Given the description of an element on the screen output the (x, y) to click on. 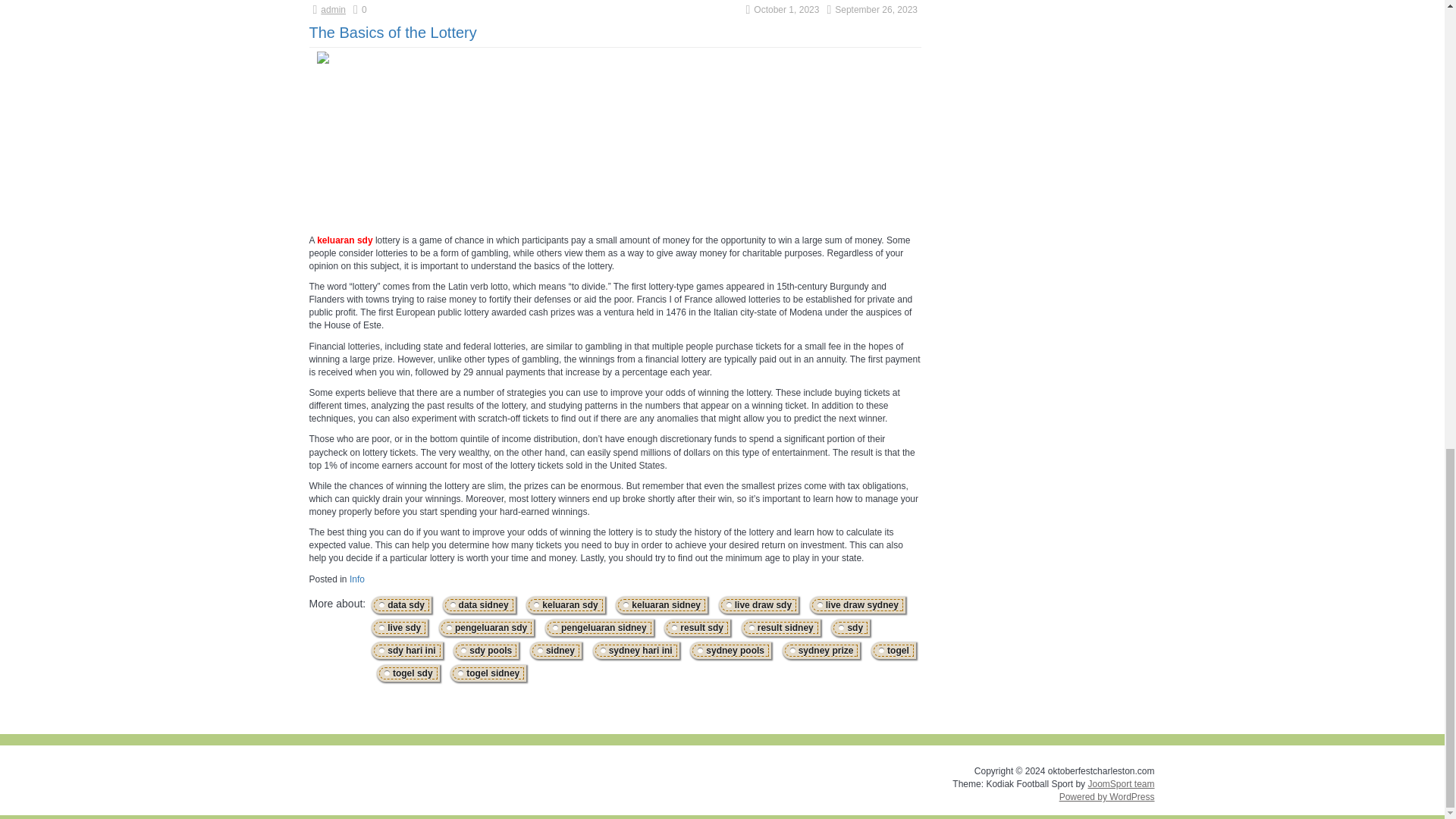
 The Best WordPress Sport Plugin for your league and club  (1120, 783)
